Given the description of an element on the screen output the (x, y) to click on. 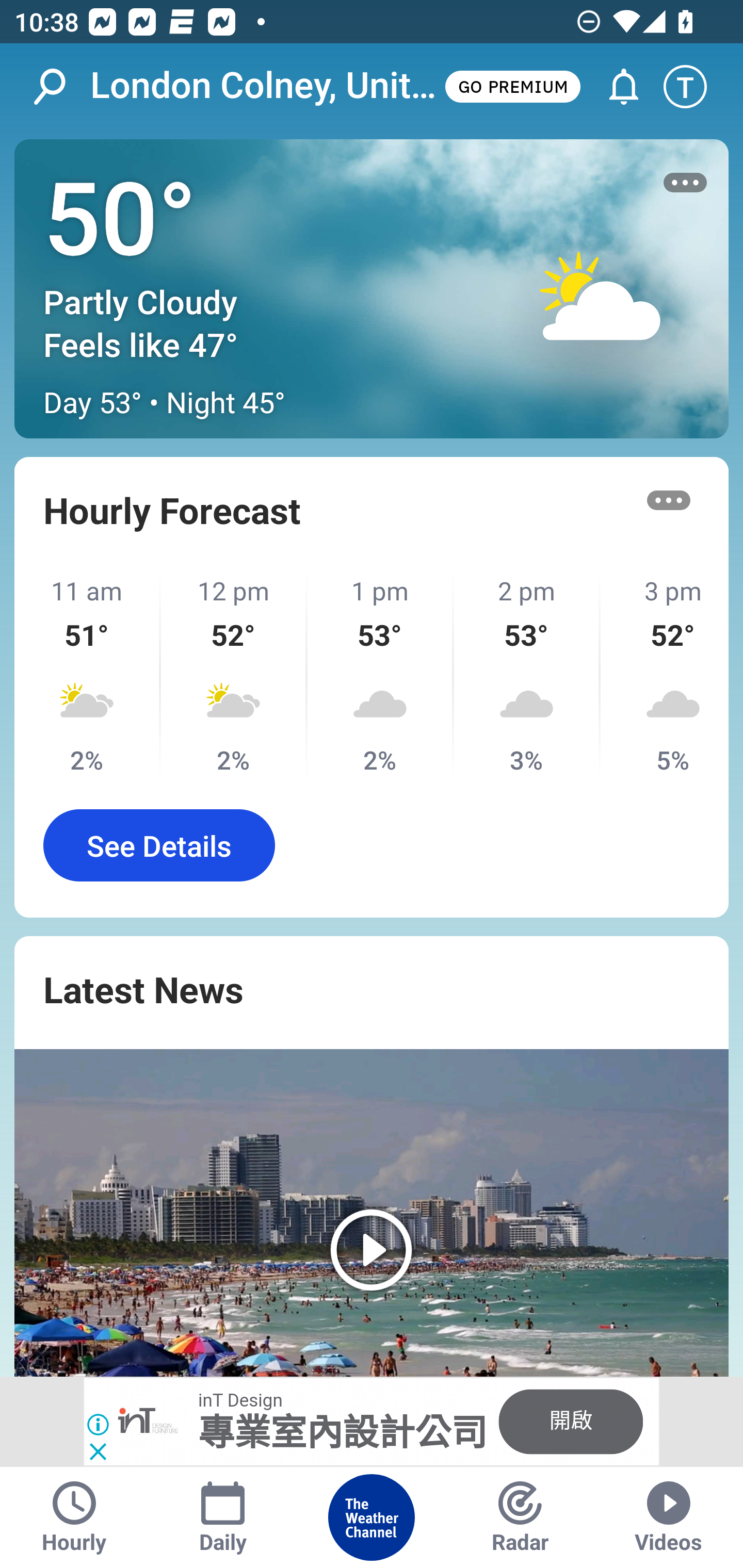
Search (59, 86)
Go to Alerts and Notifications (614, 86)
Setting icon T (694, 86)
London Colney, United Kingdom (265, 85)
GO PREMIUM (512, 85)
More options (684, 182)
More options (668, 500)
11 am 51° 2% (87, 674)
12 pm 52° 2% (234, 674)
1 pm 53° 2% (380, 674)
2 pm 53° 3% (526, 674)
3 pm 52° 5% (664, 674)
See Details (158, 845)
Play (371, 1212)
開啟 inT Design 專業室內設計公司 開啟 inT Design 專業室內設計公司 (371, 1421)
開啟 inT Design 專業室內設計公司 開啟 inT Design 專業室內設計公司 (371, 1421)
Hourly Tab Hourly (74, 1517)
Daily Tab Daily (222, 1517)
Radar Tab Radar (519, 1517)
Videos Tab Videos (668, 1517)
